Given the description of an element on the screen output the (x, y) to click on. 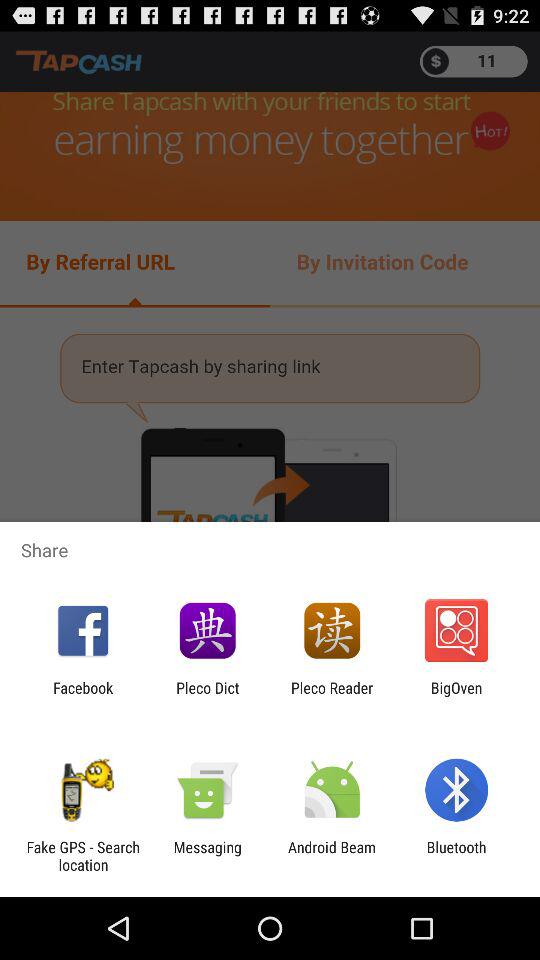
click the icon next to pleco dict item (83, 696)
